Given the description of an element on the screen output the (x, y) to click on. 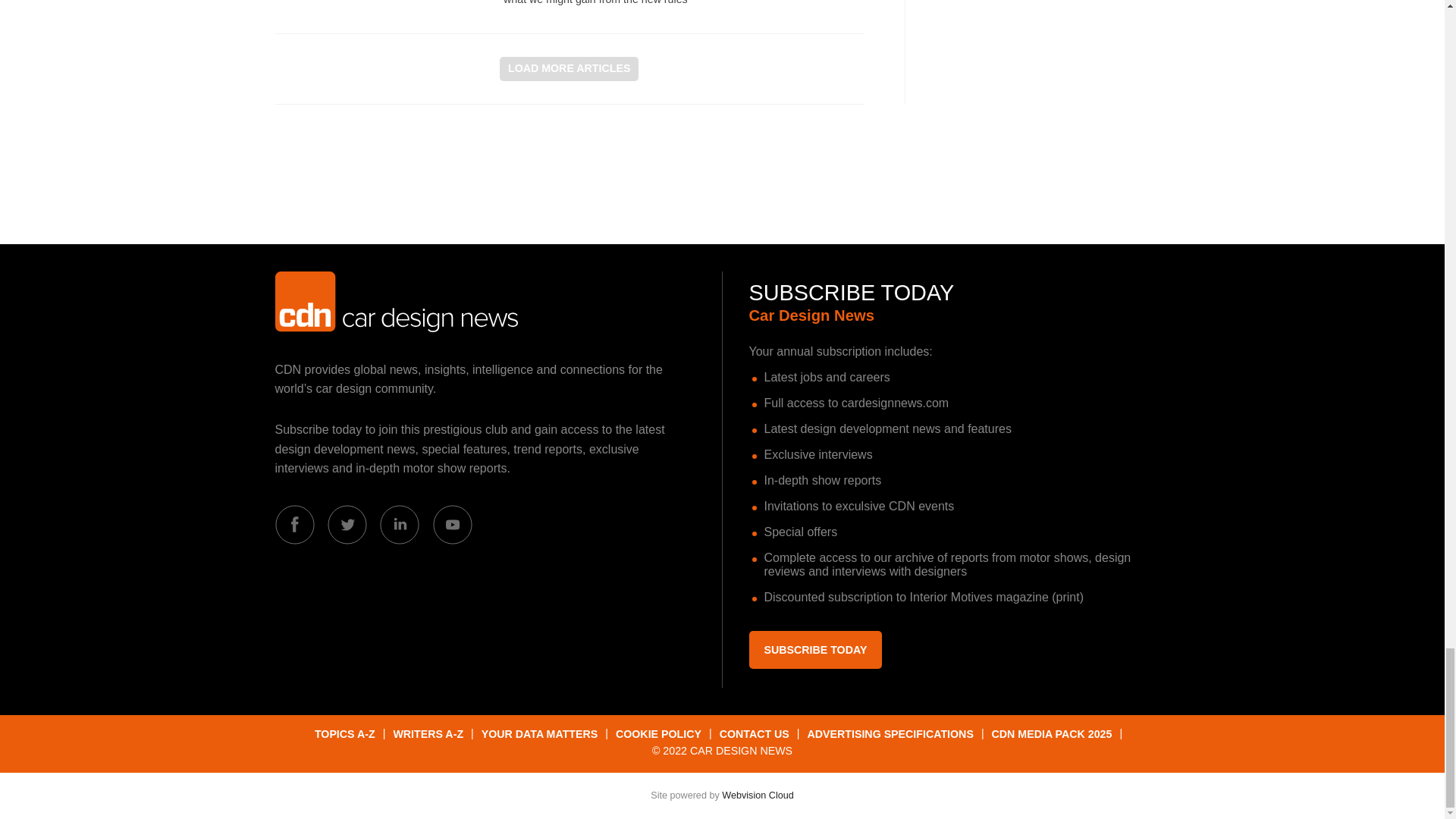
footer-logo (395, 301)
Connect with us on Facebook (294, 524)
Connect with us on Linked In (399, 524)
Connect with us on Twitter (346, 524)
Connect with us on Youtube (451, 524)
